Given the description of an element on the screen output the (x, y) to click on. 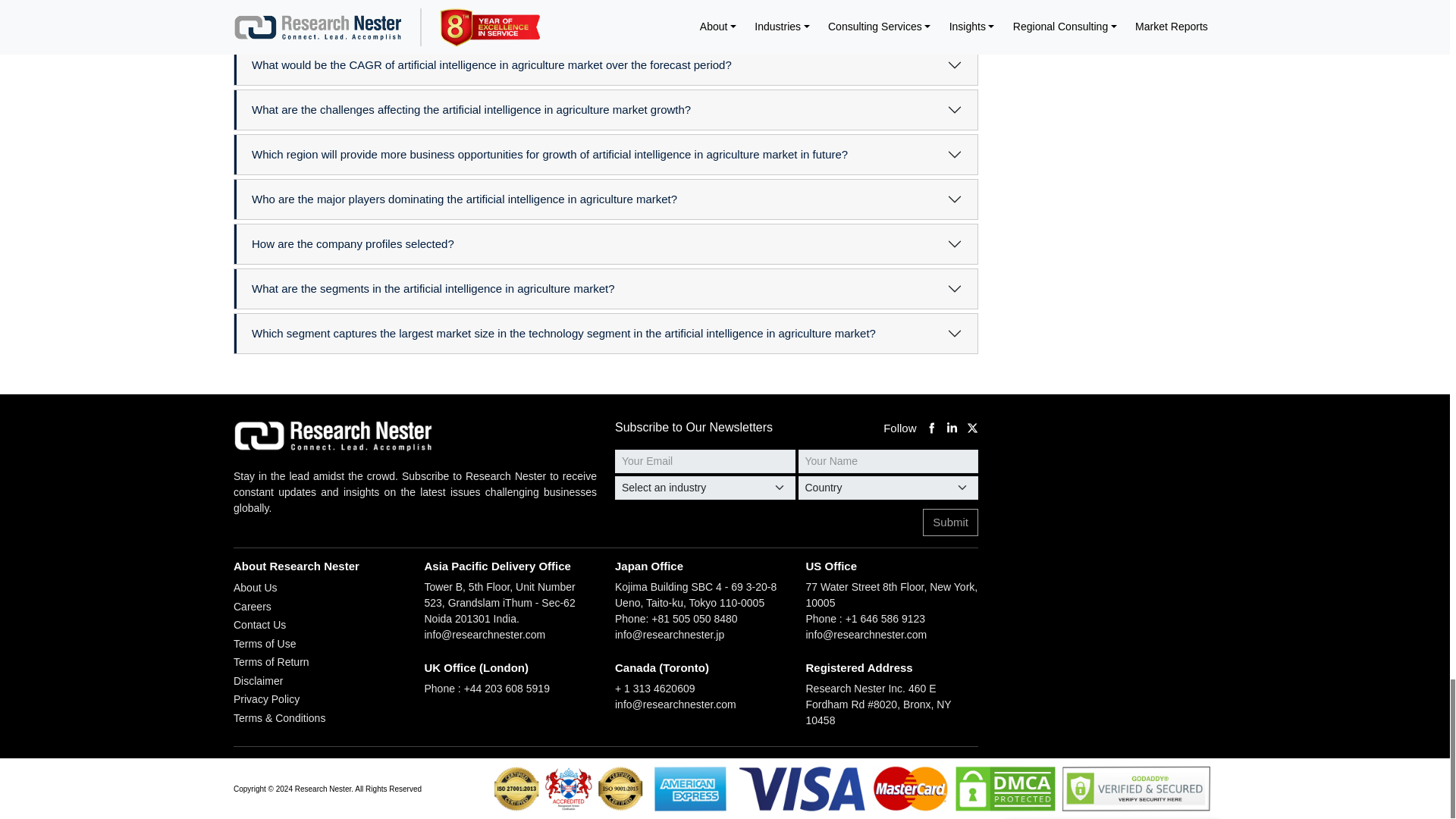
Research Nester (345, 436)
